Given the description of an element on the screen output the (x, y) to click on. 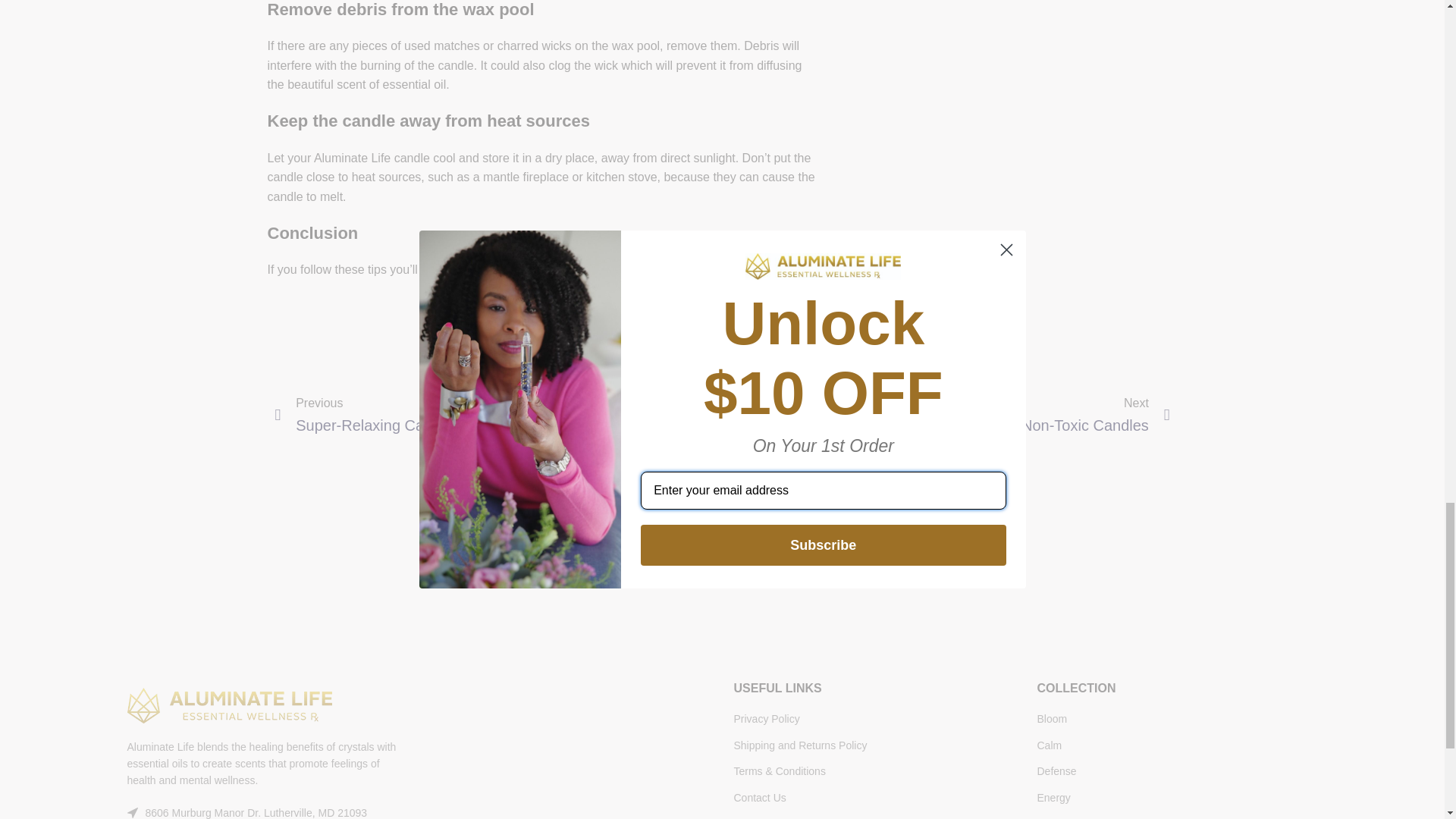
wd-cursor-dark (133, 812)
